Given the description of an element on the screen output the (x, y) to click on. 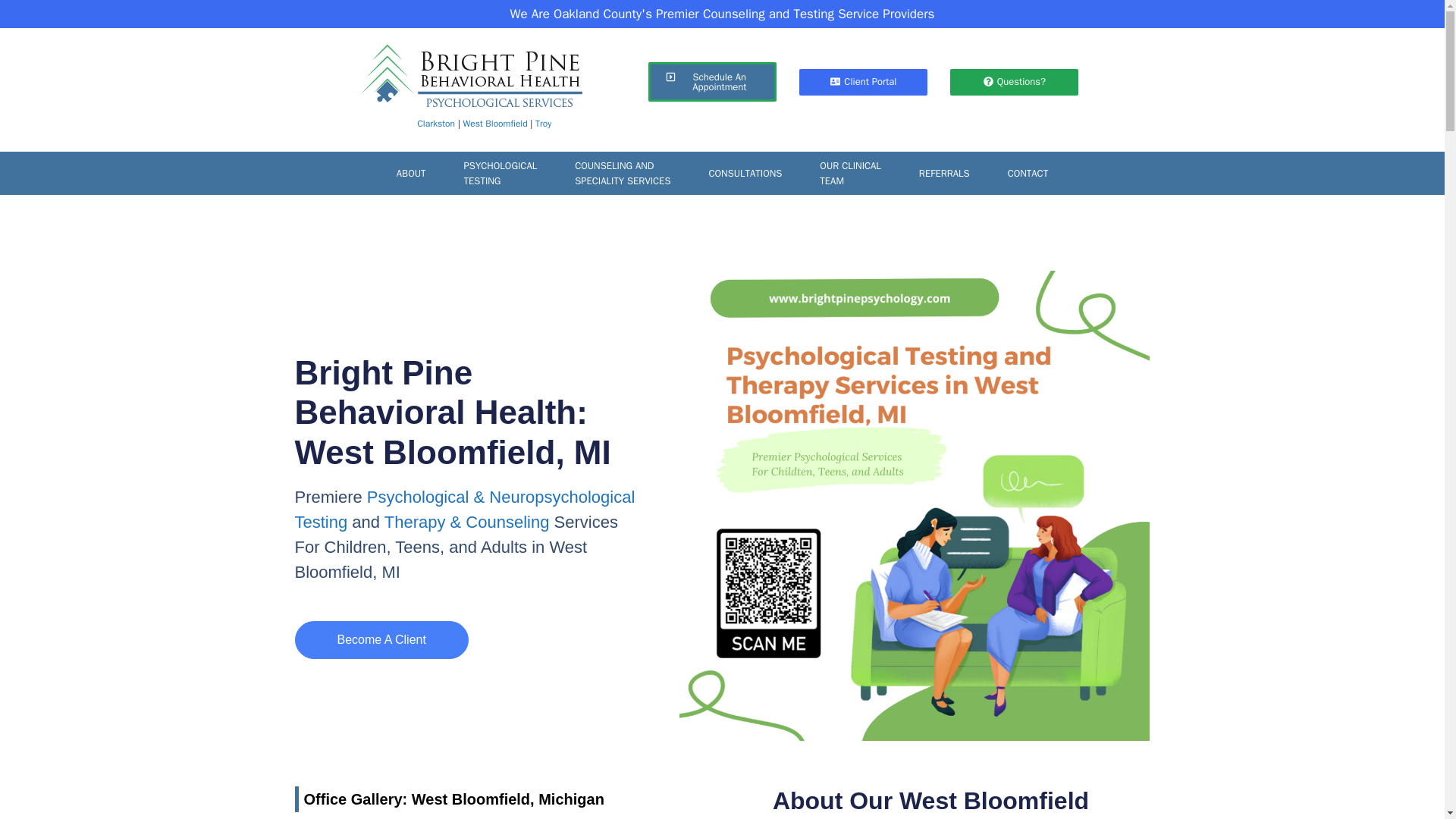
Clarkston (500, 173)
West Bloomfield (436, 123)
Questions? (622, 173)
Troy (495, 123)
ABOUT (1014, 81)
Client Portal (543, 123)
Schedule An Appointment (411, 173)
